Given the description of an element on the screen output the (x, y) to click on. 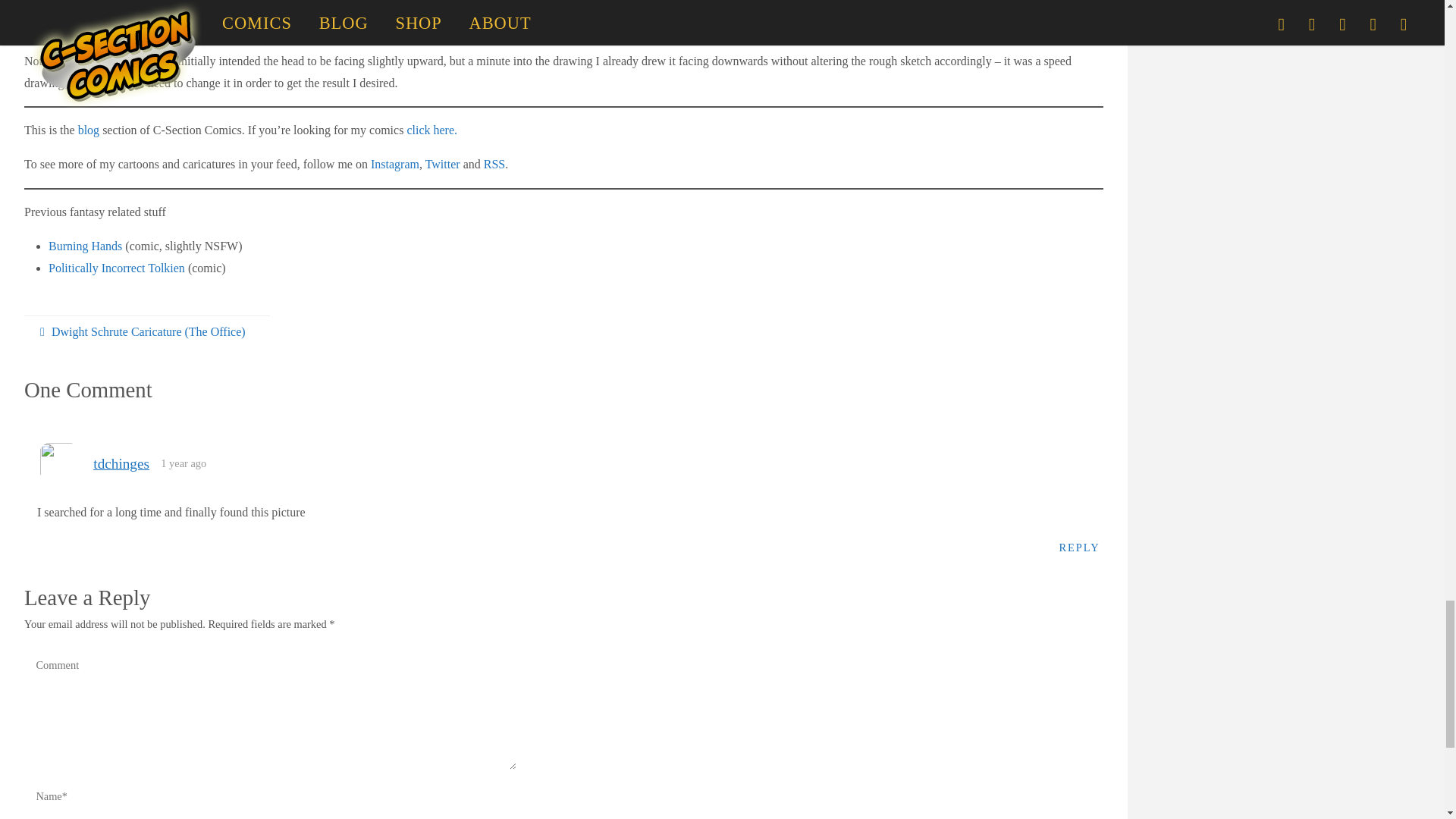
tdchinges (121, 463)
Twitter (442, 164)
Burning Hands (85, 245)
RSS (494, 164)
1 year ago (183, 463)
blog  (89, 129)
click here. (431, 129)
Instagram (395, 164)
Politically Incorrect Tolkien (116, 267)
REPLY (1079, 546)
